Given the description of an element on the screen output the (x, y) to click on. 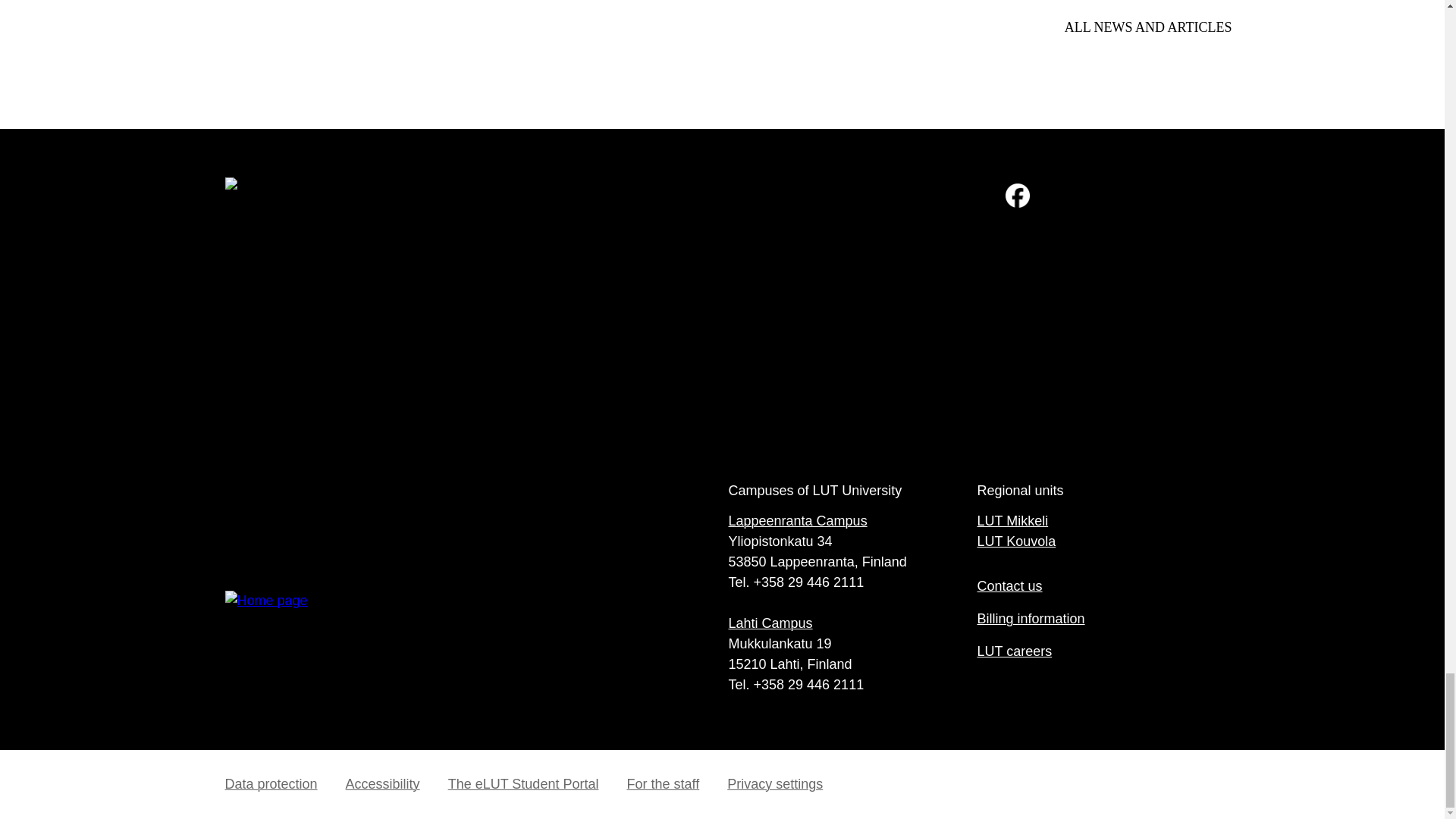
Home page (473, 645)
